Given the description of an element on the screen output the (x, y) to click on. 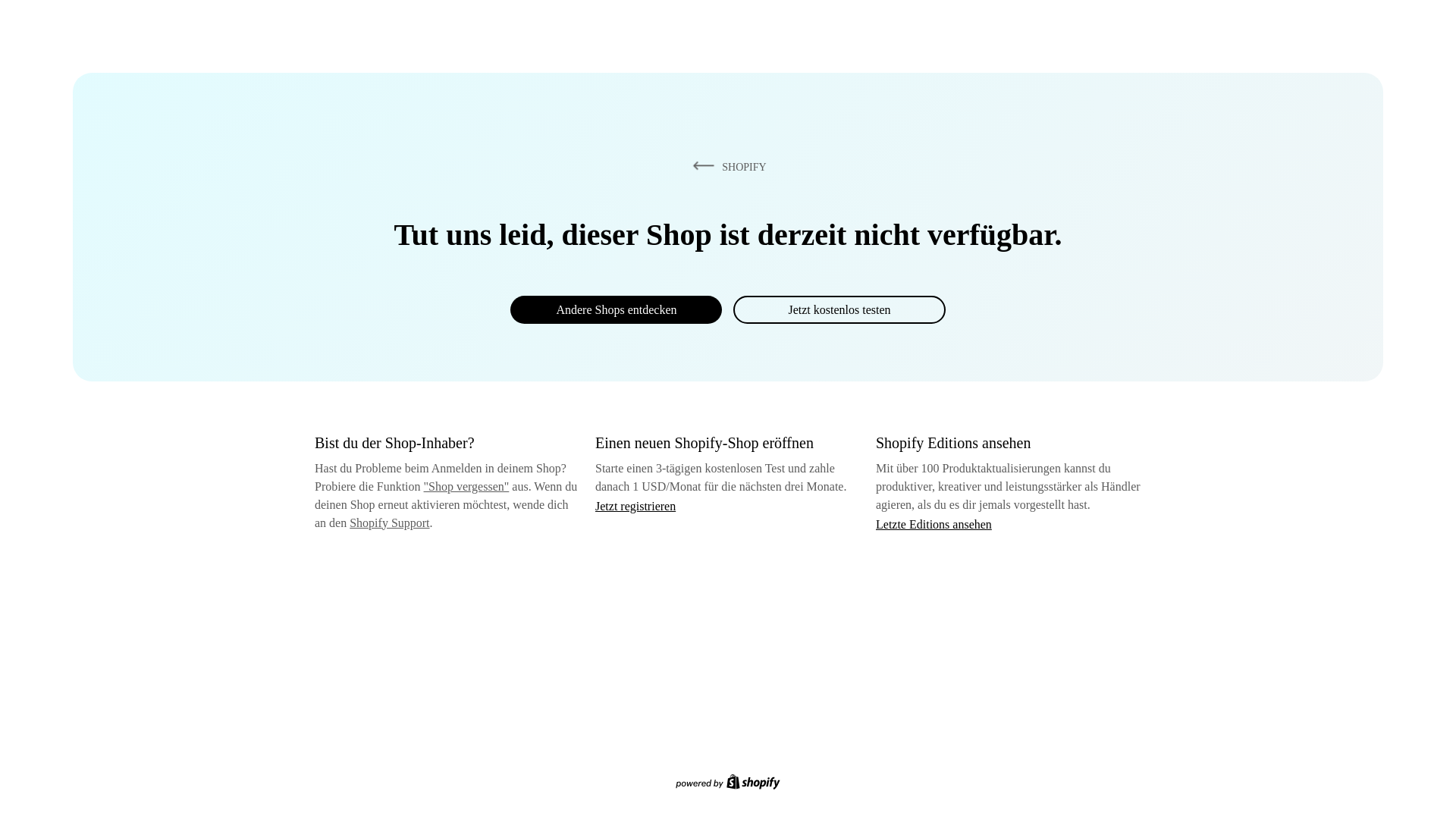
Jetzt kostenlos testen (838, 309)
Andere Shops entdecken (616, 309)
Shopify Support (389, 522)
"Shop vergessen" (466, 486)
Letzte Editions ansehen (933, 523)
SHOPIFY (726, 166)
Jetzt registrieren (635, 505)
